Given the description of an element on the screen output the (x, y) to click on. 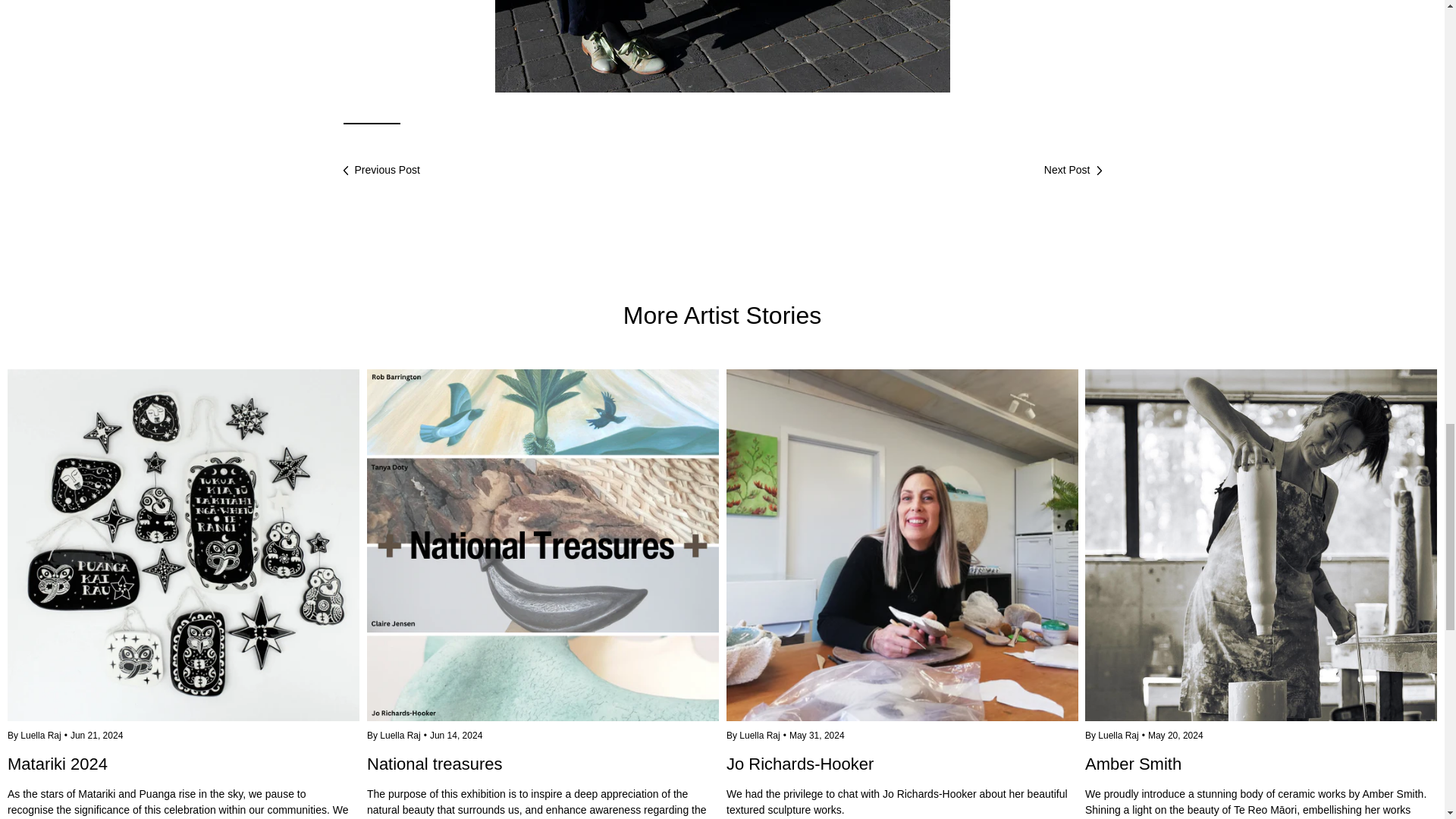
Amber Smith (1260, 545)
Matariki 2024 (183, 773)
Next Post (1072, 170)
Previous Post (380, 170)
Amber Smith (1260, 773)
Jo Richards-Hooker (902, 545)
Jo Richards-Hooker (902, 773)
National treasures (542, 773)
Matariki 2024 (183, 545)
National treasures (542, 545)
